Given the description of an element on the screen output the (x, y) to click on. 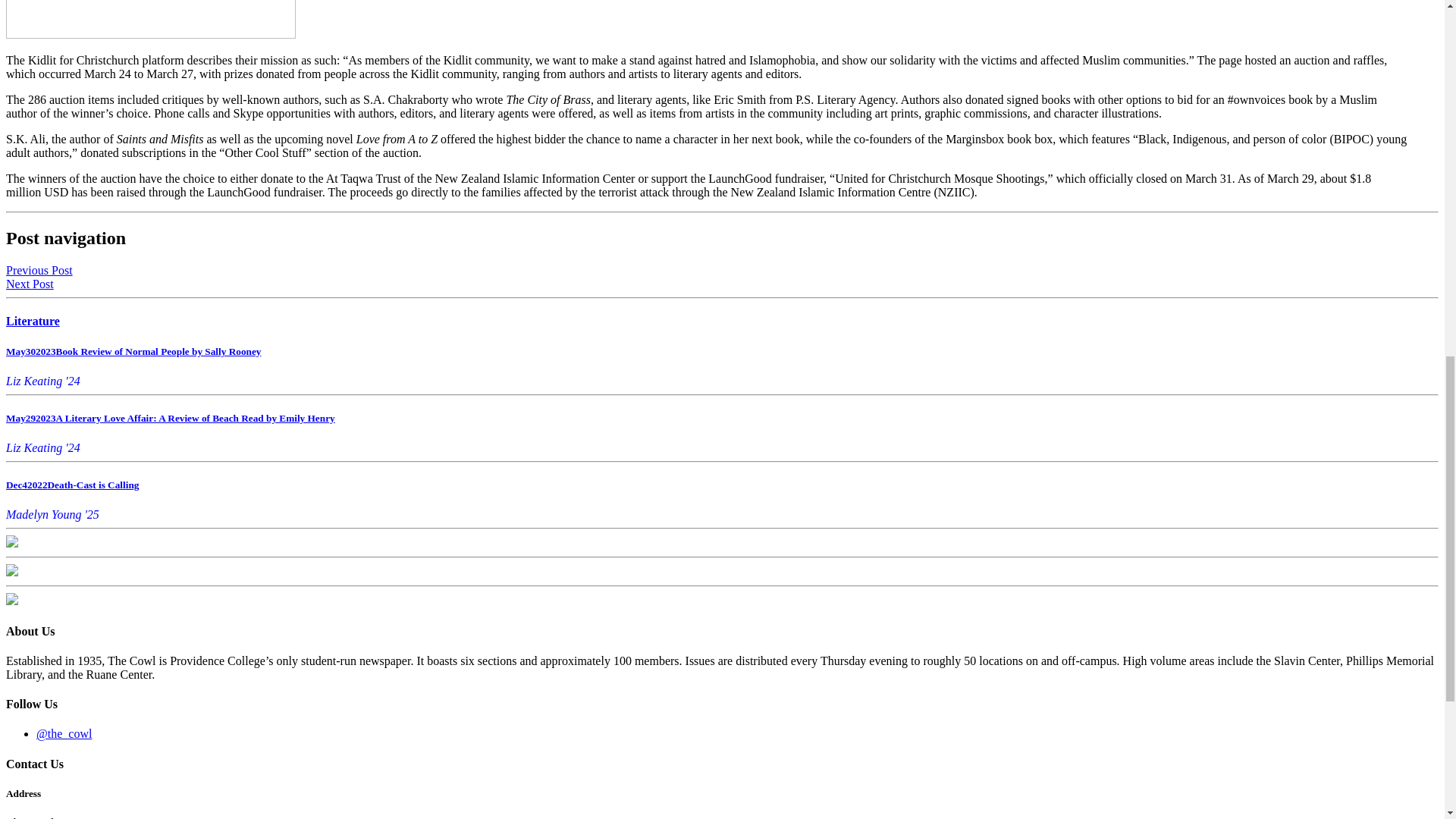
Literature (32, 320)
Next Post (29, 283)
Previous Post (38, 269)
